Given the description of an element on the screen output the (x, y) to click on. 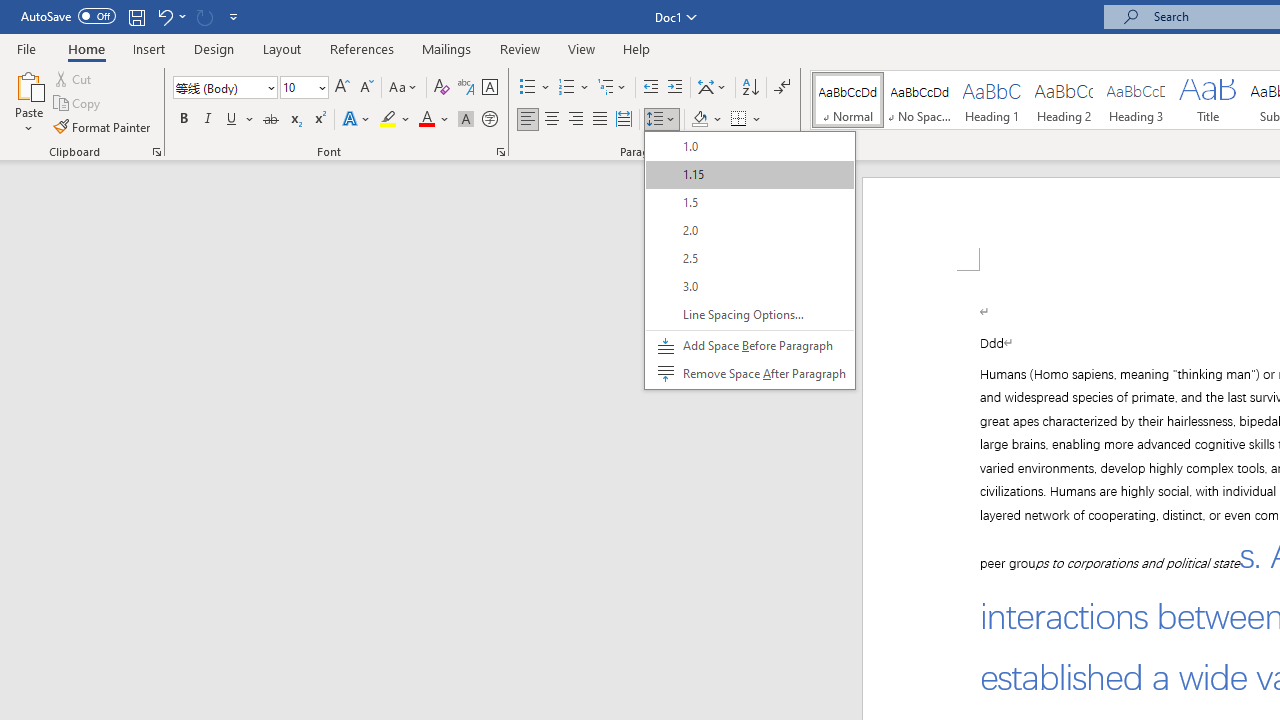
Italic (207, 119)
Grow Font (342, 87)
Justify (599, 119)
&Line and Paragraph Spacing (749, 260)
Decrease Indent (650, 87)
Font Color (434, 119)
Font... (500, 151)
